Given the description of an element on the screen output the (x, y) to click on. 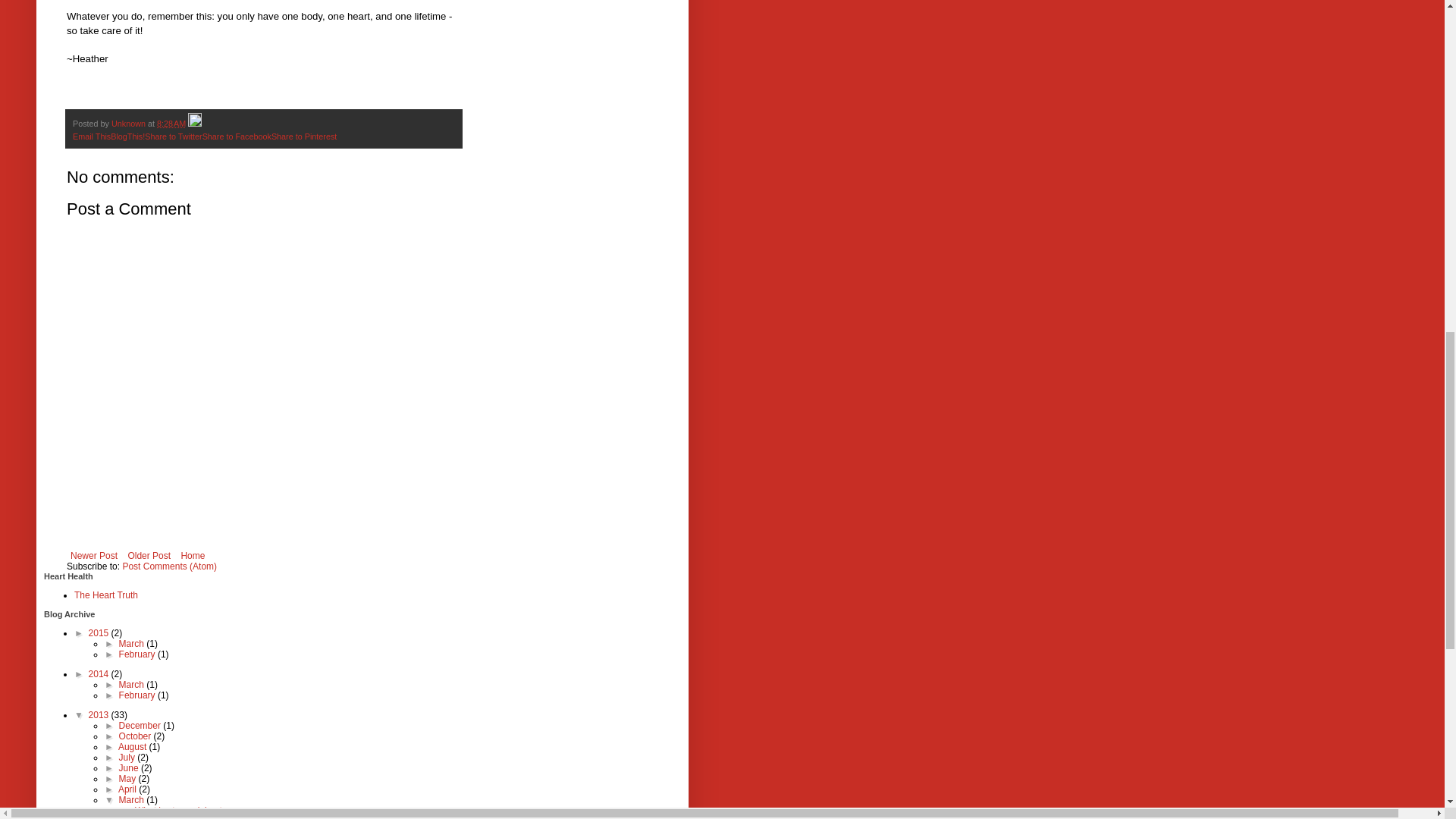
Share to Pinterest (303, 135)
permanent link (171, 122)
Share to Twitter (173, 135)
Newer Post (93, 556)
Share to Pinterest (303, 135)
BlogThis! (127, 135)
Email This (91, 135)
2015 (100, 633)
author profile (130, 122)
Share to Facebook (236, 135)
Unknown (130, 122)
Newer Post (93, 556)
Home (192, 556)
BlogThis! (127, 135)
